Given the description of an element on the screen output the (x, y) to click on. 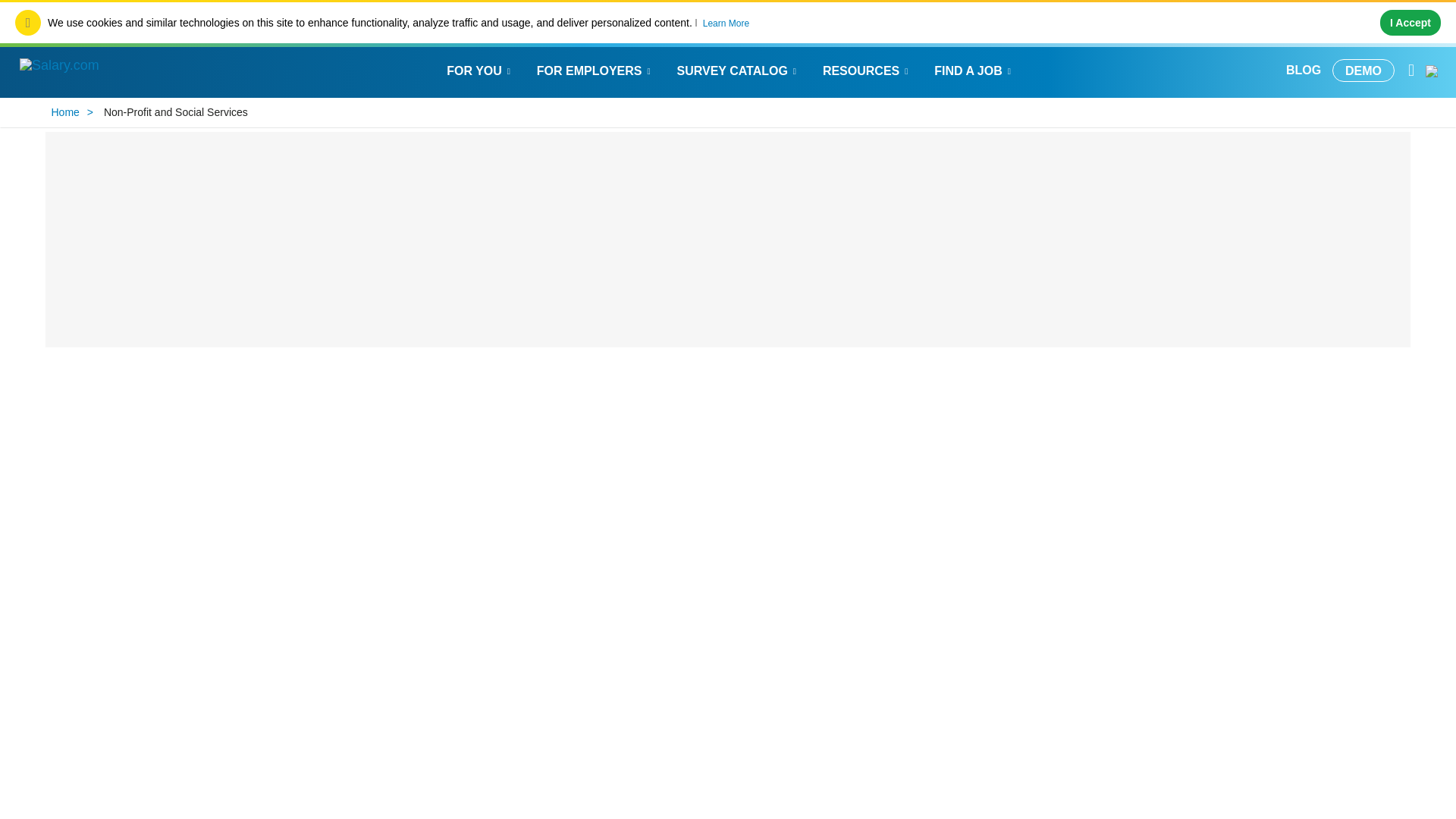
DEMO (1363, 69)
I Accept (1410, 22)
SURVEY CATALOG (737, 70)
FOR YOU (480, 70)
FIND A JOB (974, 70)
Home (67, 112)
RESOURCES (866, 70)
Learn More (726, 23)
FOR EMPLOYERS (595, 70)
BLOG (1302, 69)
